Given the description of an element on the screen output the (x, y) to click on. 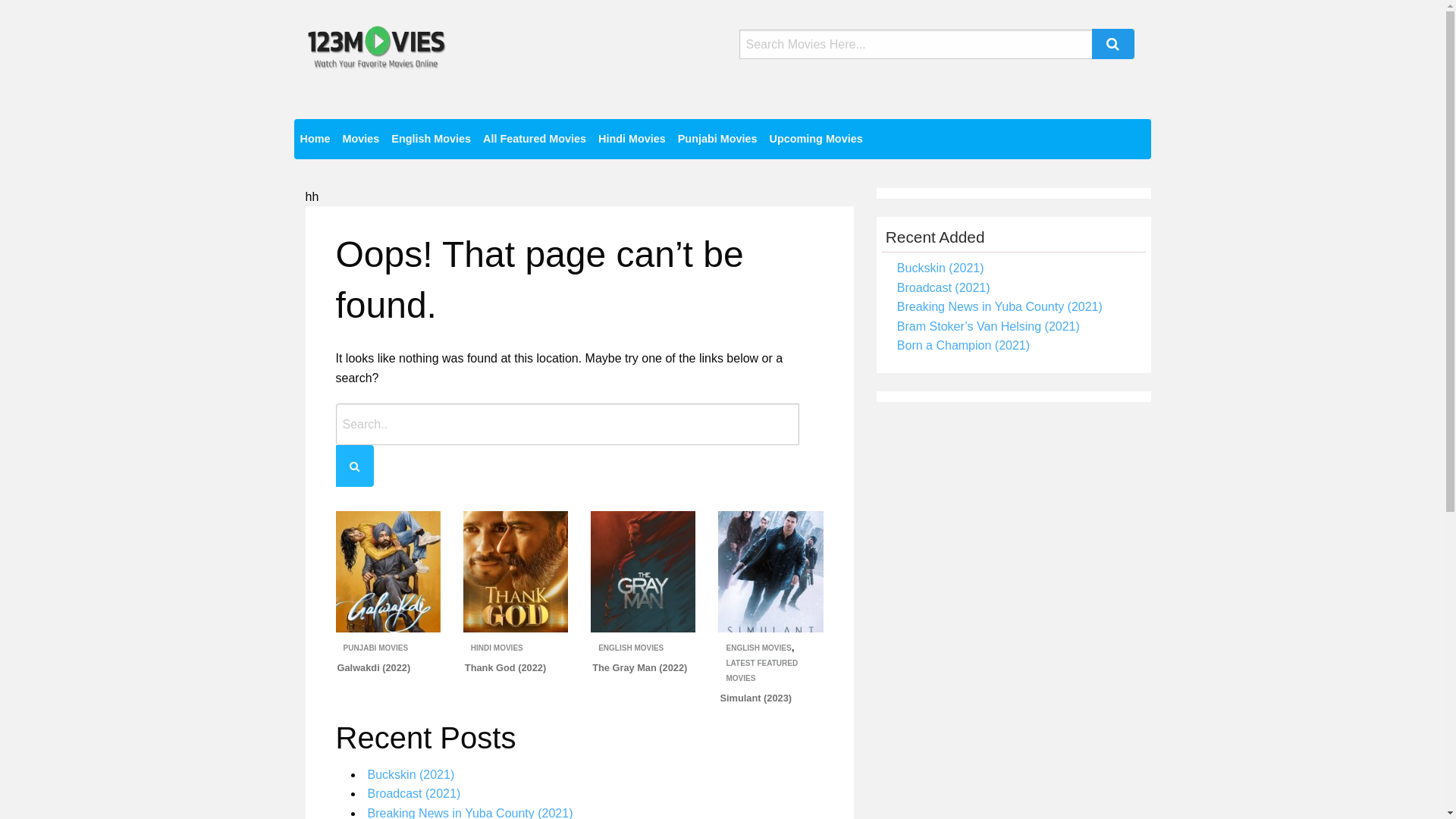
ENGLISH MOVIES Element type: text (630, 647)
Thank God (2022) Element type: text (505, 667)
LATEST FEATURED MOVIES Element type: text (761, 670)
Simulant (2023) Element type: text (755, 698)
English Movies Element type: text (430, 139)
Movies Element type: text (360, 139)
Search Element type: text (1113, 43)
HINDI MOVIES Element type: text (496, 647)
The Gray Man (2022) Element type: text (639, 667)
Punjabi Movies Element type: text (717, 139)
ENGLISH MOVIES Element type: text (757, 647)
All Featured Movies Element type: text (534, 139)
Upcoming Movies Element type: text (816, 139)
Broadcast (2021) Element type: text (413, 793)
Buckskin (2021) Element type: text (940, 267)
Broadcast (2021) Element type: text (943, 287)
Home Element type: text (315, 139)
PUNJABI MOVIES Element type: text (374, 647)
Breaking News in Yuba County (2021) Element type: text (999, 306)
Buckskin (2021) Element type: text (410, 774)
Galwakdi (2022) Element type: text (373, 667)
Born a Champion (2021) Element type: text (963, 344)
Hindi Movies Element type: text (631, 139)
